Given the description of an element on the screen output the (x, y) to click on. 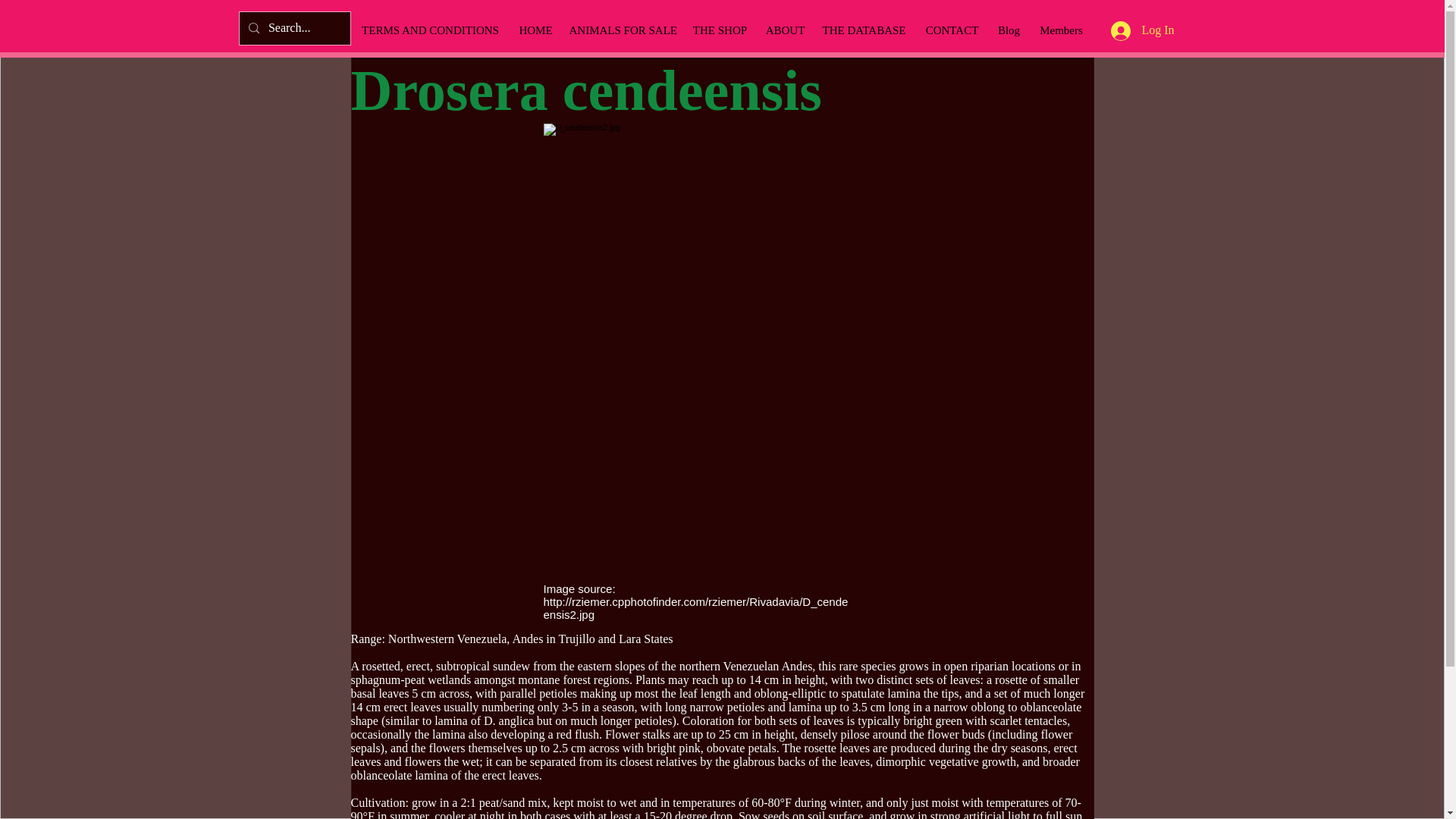
THE SHOP (719, 30)
Blog (1007, 30)
CONTACT (951, 30)
TERMS AND CONDITIONS (429, 30)
ABOUT (784, 30)
Log In (1142, 30)
THE DATABASE (863, 30)
Members (1060, 30)
ANIMALS FOR SALE (621, 30)
HOME (534, 30)
